Given the description of an element on the screen output the (x, y) to click on. 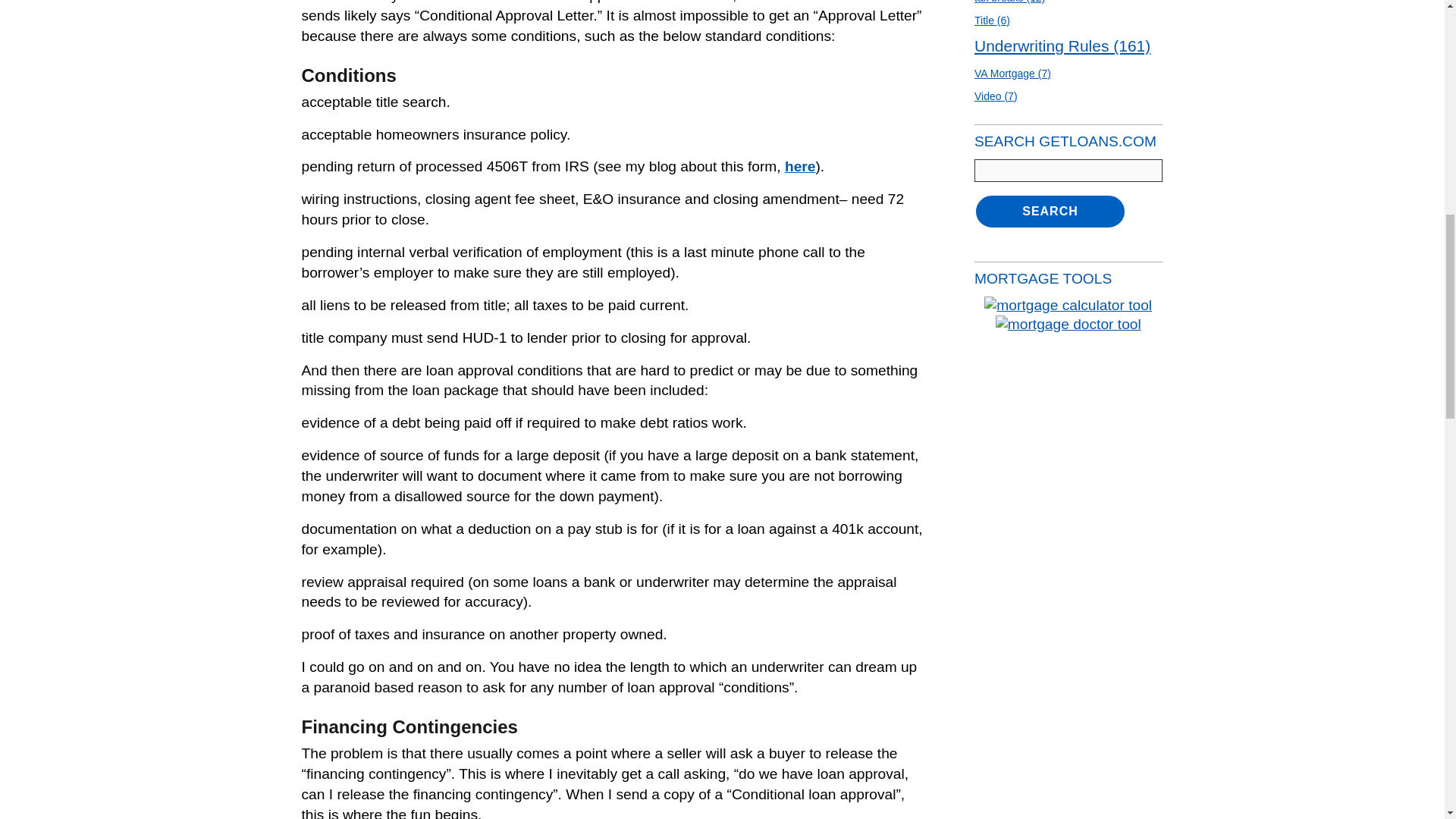
Search (1049, 211)
here (799, 166)
